Given the description of an element on the screen output the (x, y) to click on. 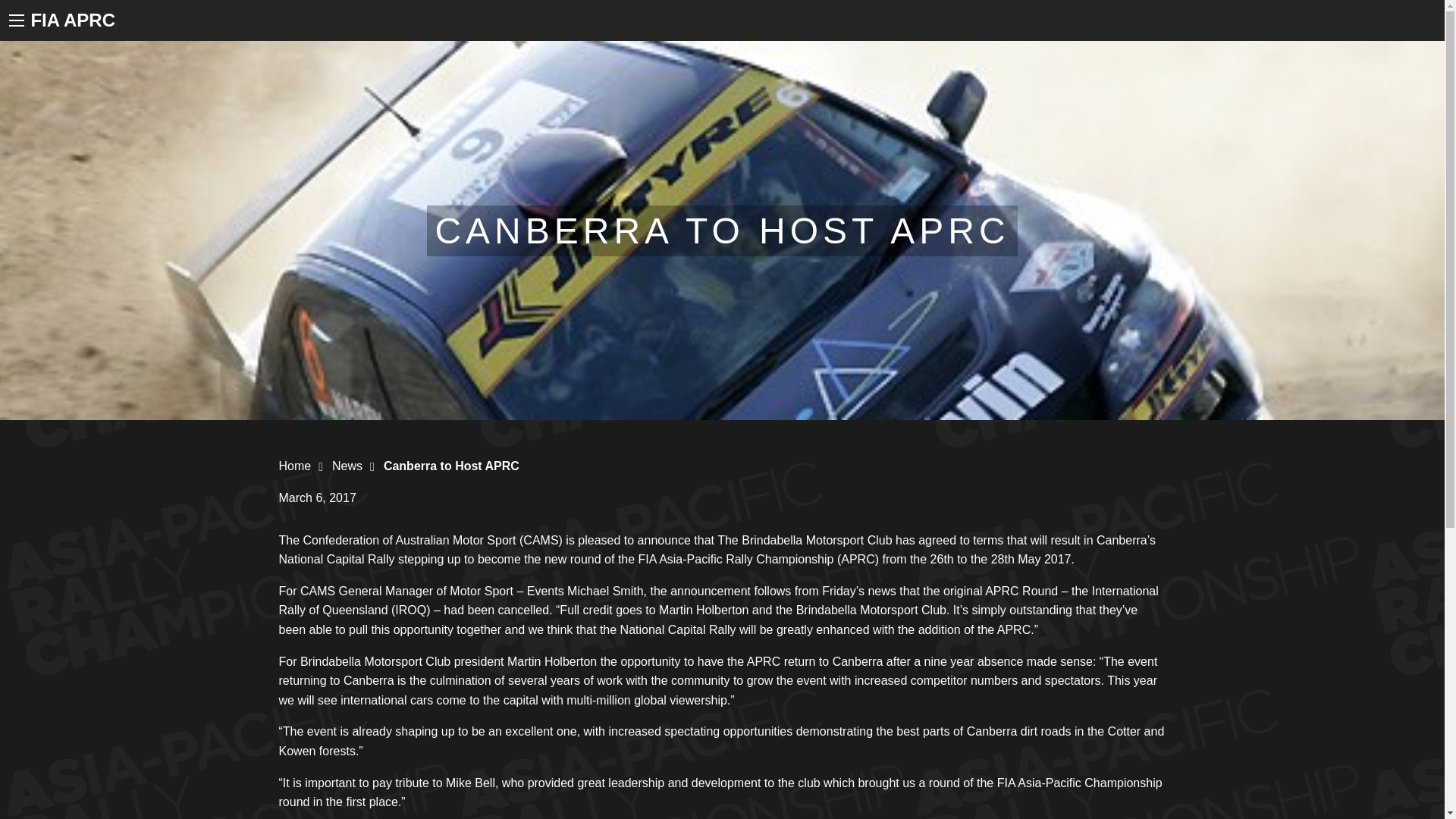
News (346, 465)
Home (295, 465)
Home (295, 465)
FIA APRC (72, 19)
Canberra to Host APRC (451, 465)
News (346, 465)
